Given the description of an element on the screen output the (x, y) to click on. 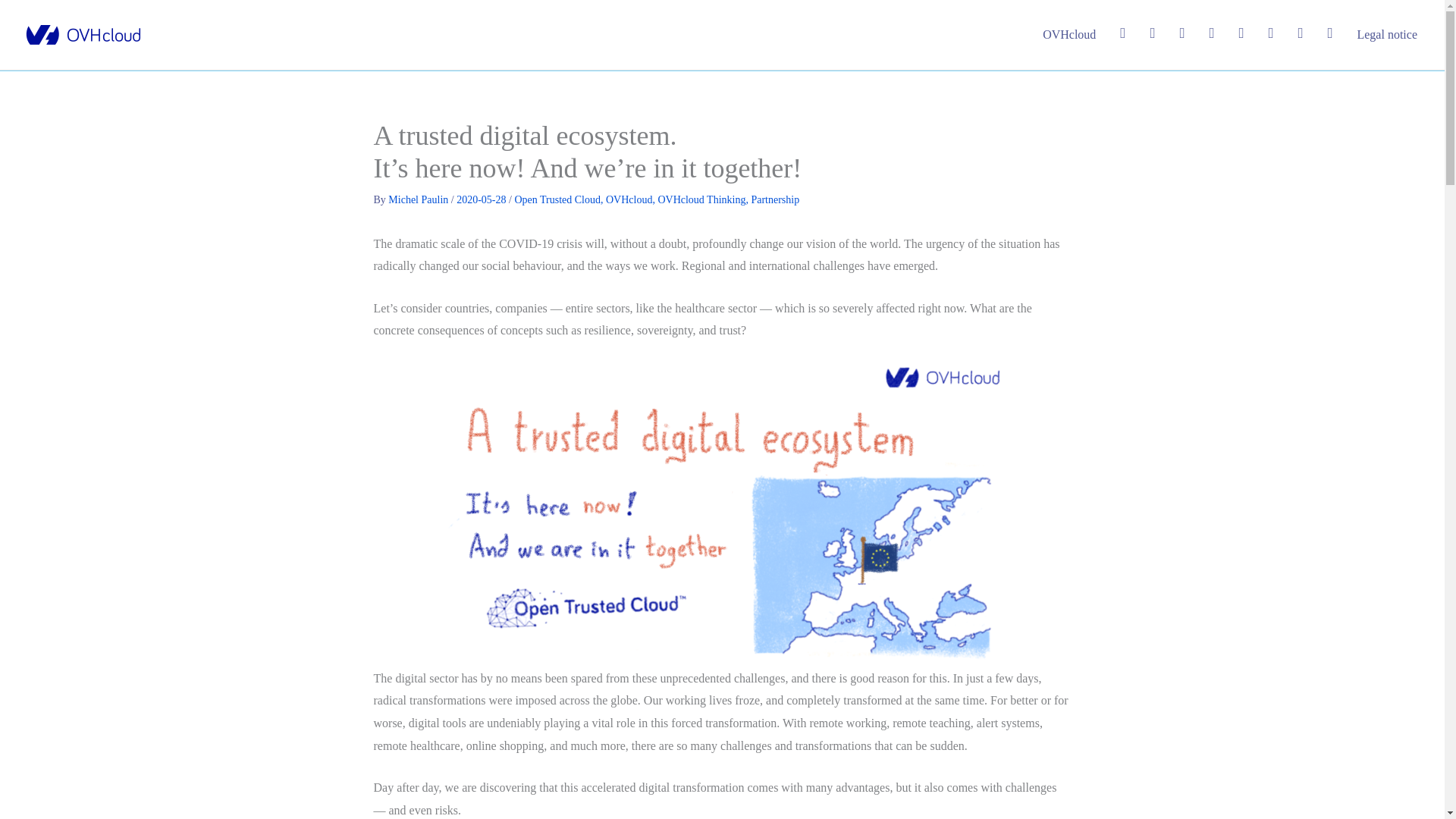
OVHcloud Thinking (701, 199)
Michel Paulin (418, 199)
Partnership (775, 199)
OVHcloud (628, 199)
Open Trusted Cloud (556, 199)
OVHcloud (1069, 34)
View all posts by Michel Paulin (418, 199)
Legal notice (1386, 34)
